Given the description of an element on the screen output the (x, y) to click on. 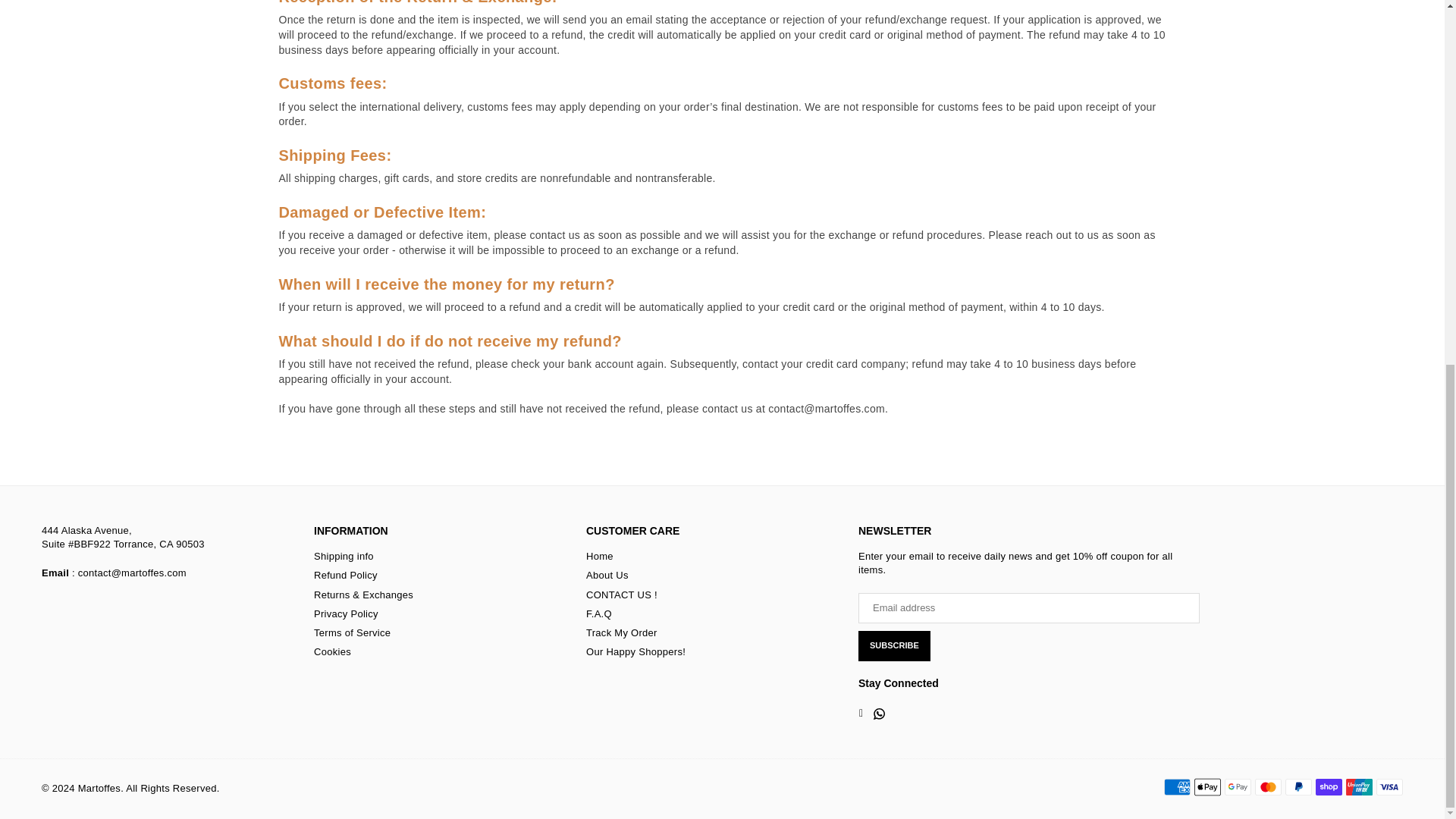
American Express (1177, 787)
F.A.Q (598, 613)
Shipping info (344, 555)
CONTACT US ! (622, 594)
Privacy Policy (346, 613)
PayPal (1298, 787)
Track My Order (622, 632)
Facebook (860, 713)
Terms of Service (352, 632)
About Us (607, 574)
Martoffes Store on Facebook (860, 713)
Whatsapp (878, 713)
SUBSCRIBE (894, 645)
Our Happy Shoppers! (635, 651)
Apple Pay (1207, 787)
